Given the description of an element on the screen output the (x, y) to click on. 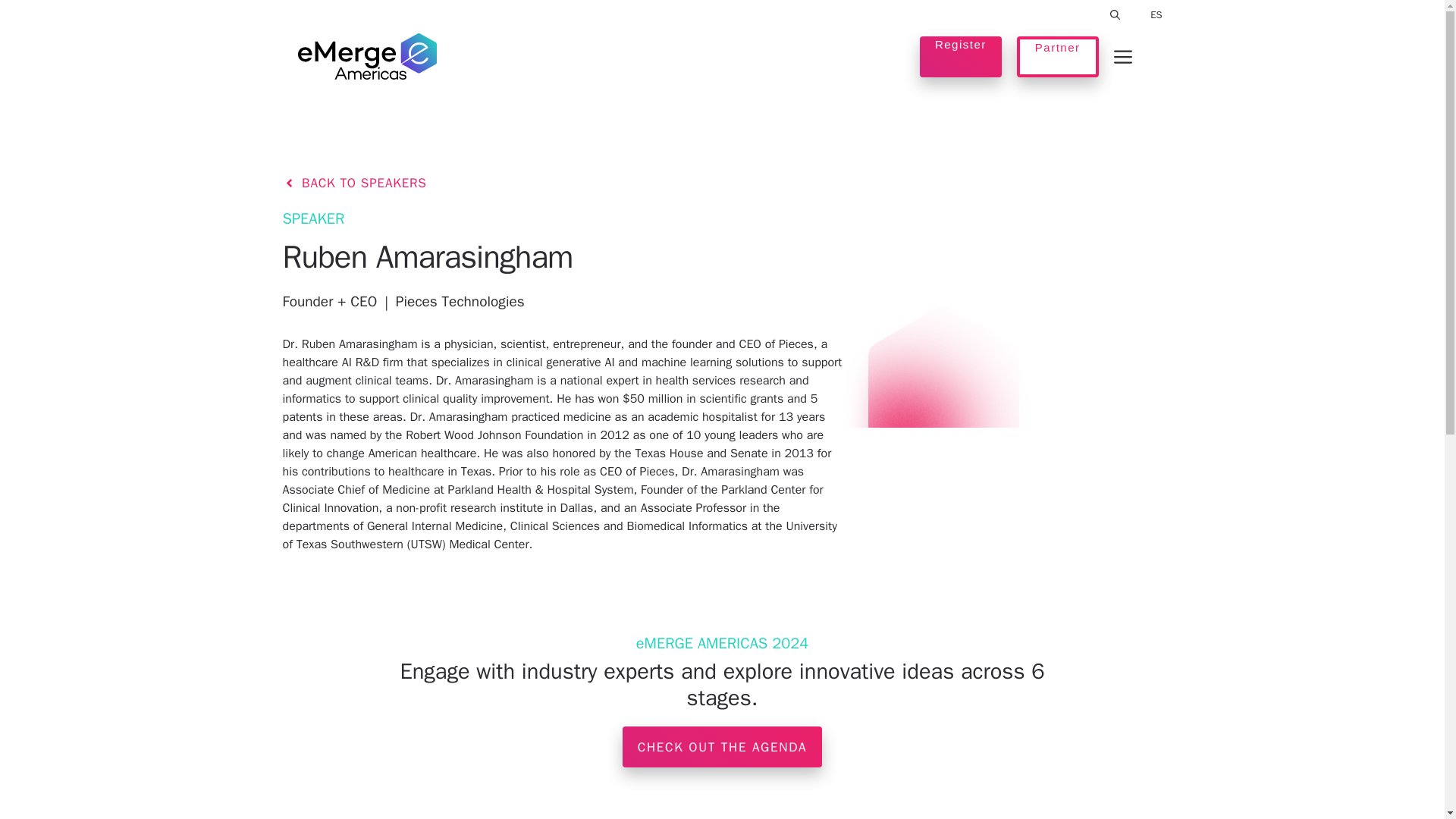
ES (1155, 15)
Partner (1057, 56)
MENU (1122, 56)
Register (960, 56)
BACK TO SPEAKERS (354, 183)
eMerge texture (942, 406)
